Given the description of an element on the screen output the (x, y) to click on. 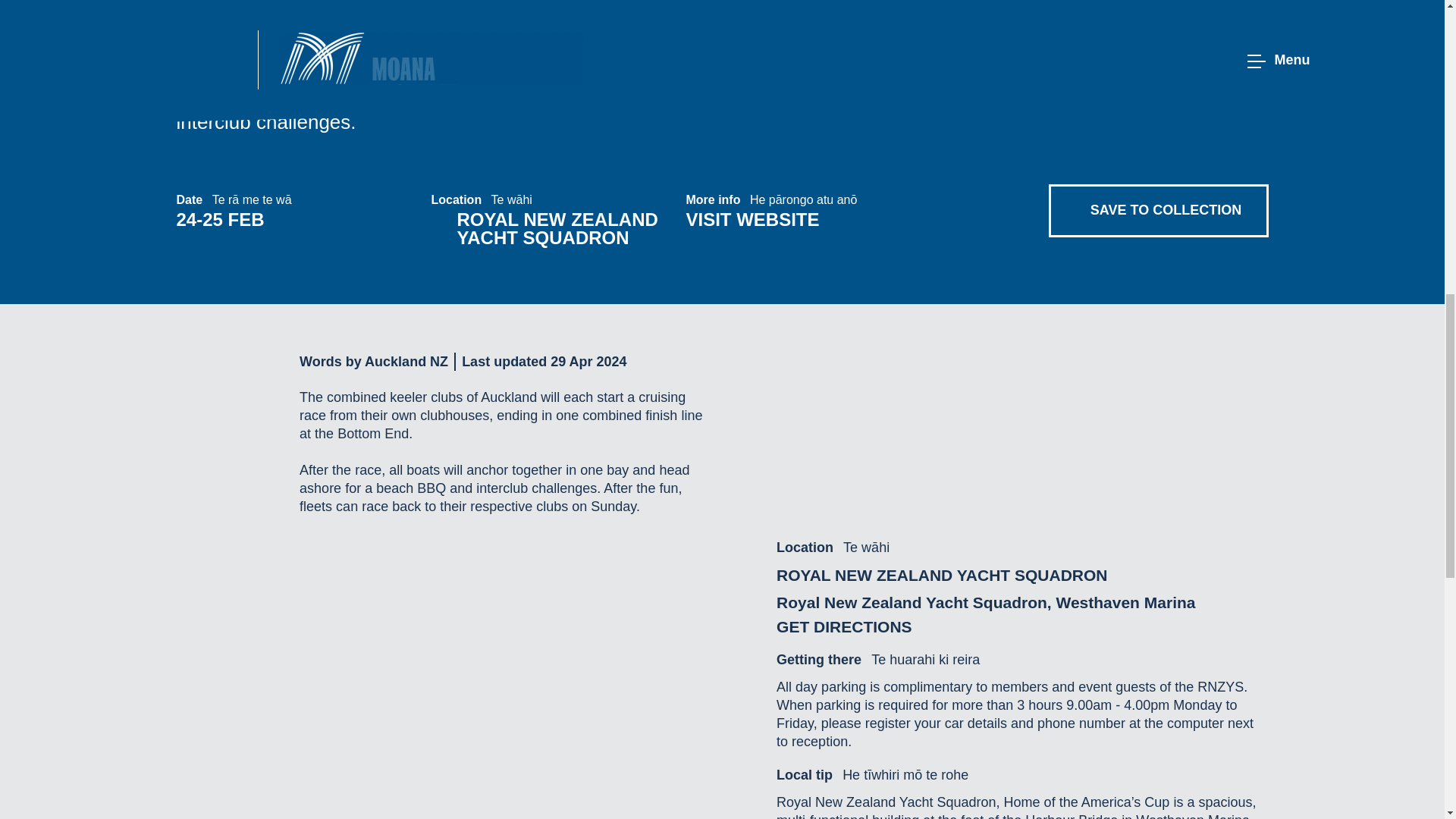
ROYAL NEW ZEALAND YACHT SQUADRON (985, 575)
VISIT WEBSITE (812, 219)
ROYAL NEW ZEALAND YACHT SQUADRON (551, 228)
GET DIRECTIONS (985, 627)
SAVE TO COLLECTION (1158, 210)
